Given the description of an element on the screen output the (x, y) to click on. 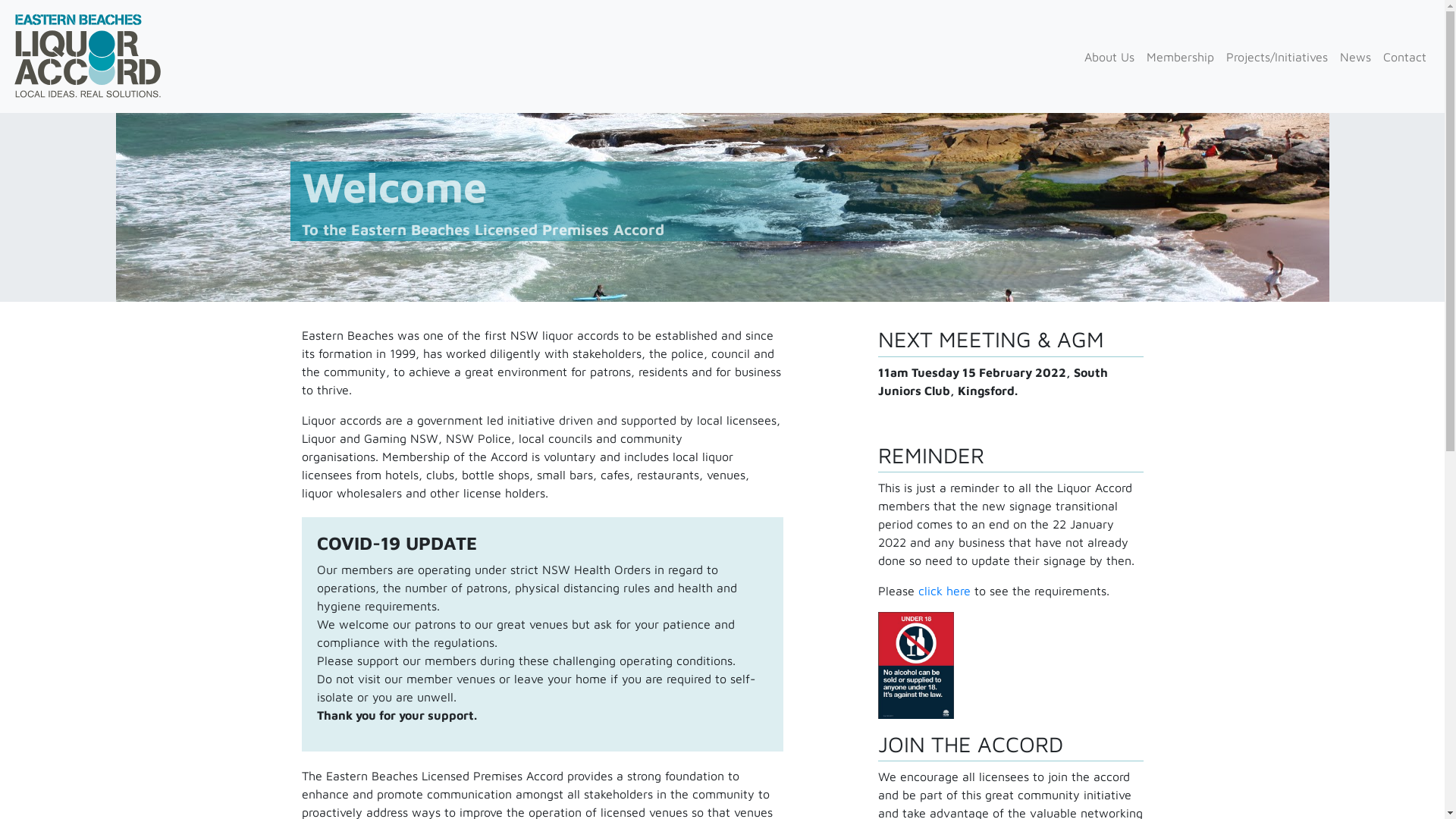
About Us Element type: text (1109, 56)
Contact Element type: text (1404, 56)
News Element type: text (1355, 56)
Membership Element type: text (1180, 56)
click here Element type: text (943, 590)
Projects/Initiatives Element type: text (1276, 56)
